Given the description of an element on the screen output the (x, y) to click on. 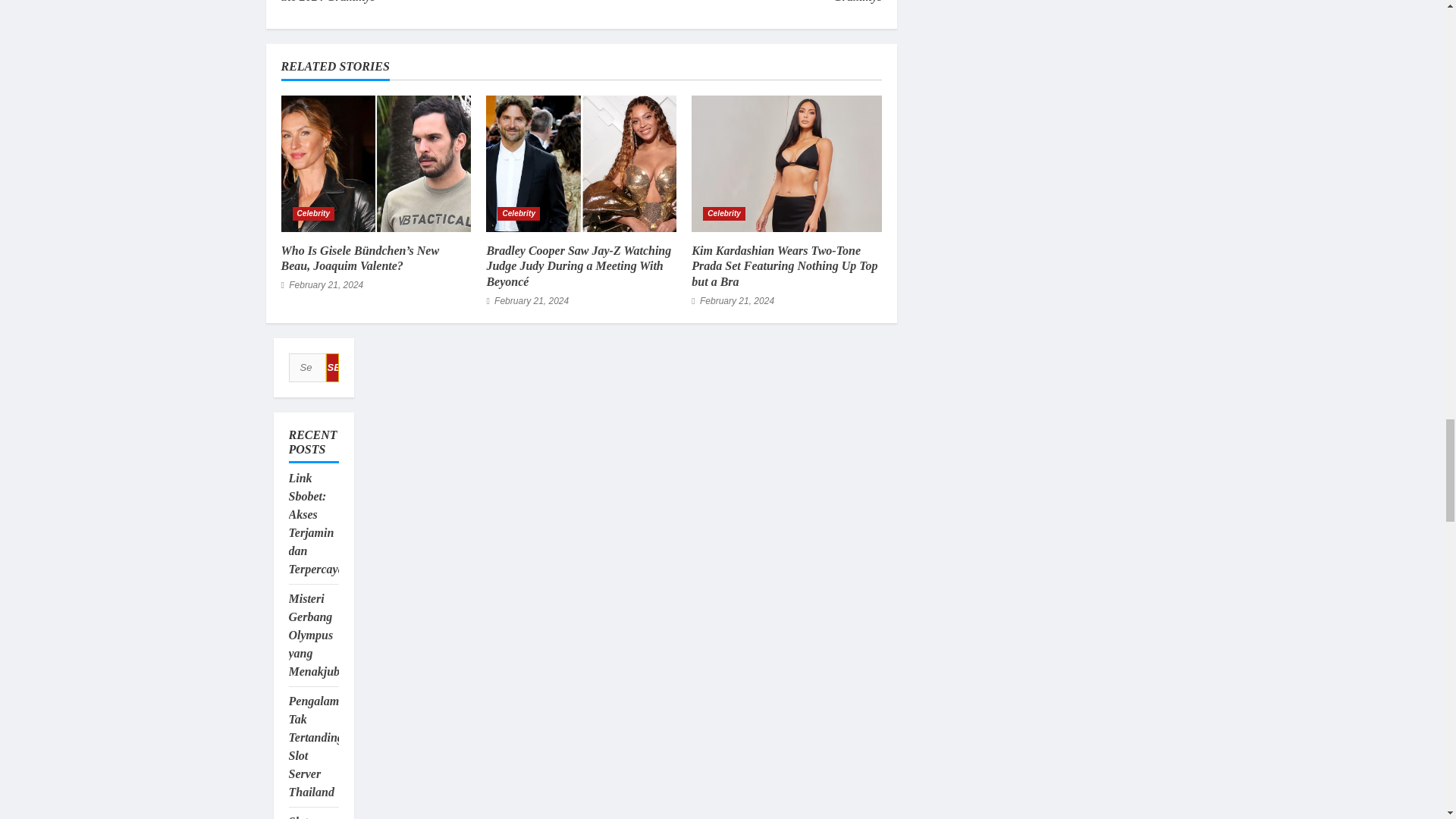
Celebrity (518, 213)
Celebrity (724, 213)
Celebrity (313, 213)
